Given the description of an element on the screen output the (x, y) to click on. 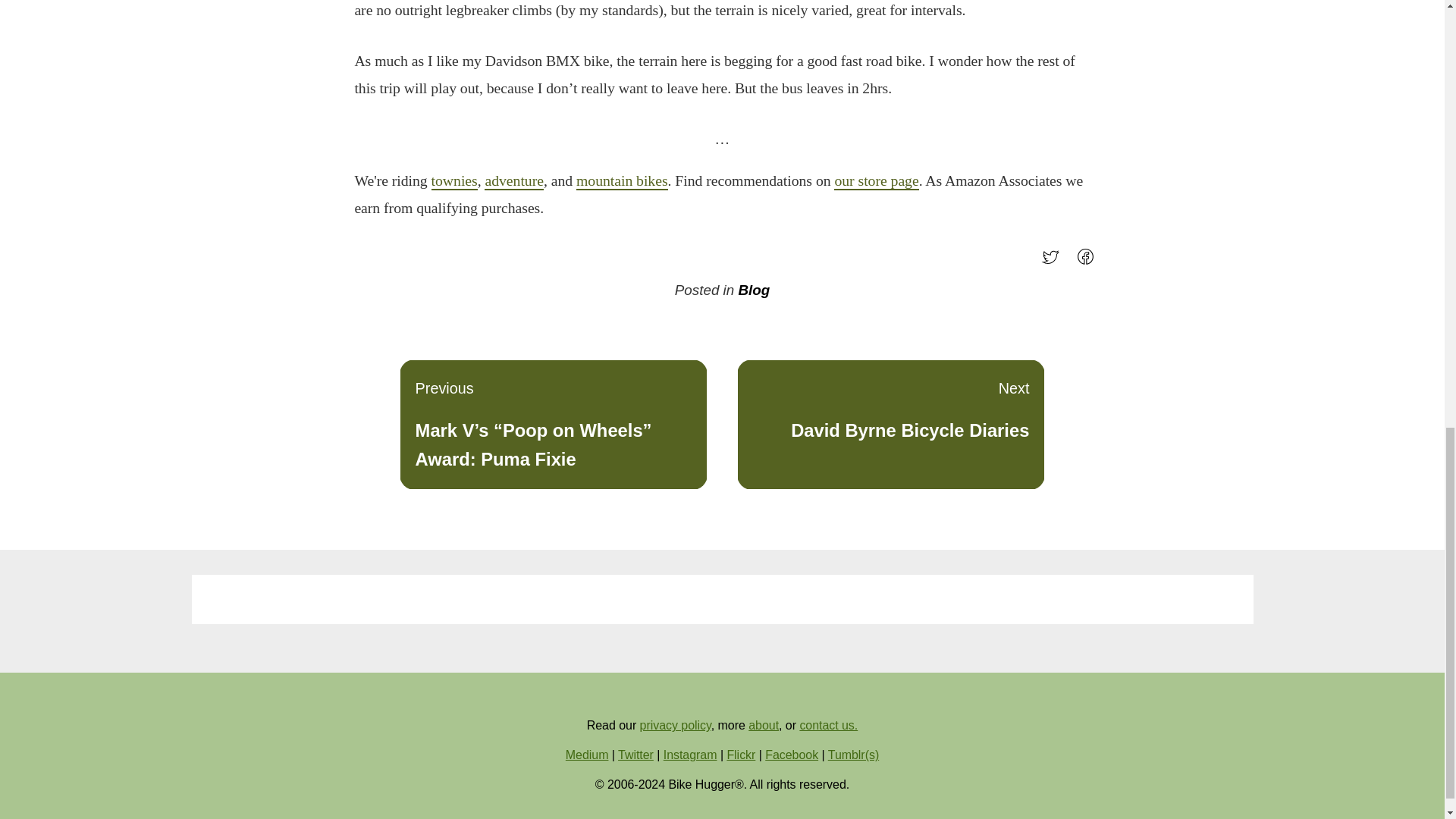
contact us. (828, 725)
townies (453, 180)
our store page (876, 180)
Blog (754, 289)
Facebook (791, 754)
mountain bikes (622, 180)
about (763, 725)
Twitter (890, 424)
privacy policy (635, 754)
Share on Facebook (675, 725)
adventure (1089, 262)
Instagram (513, 180)
Flickr (690, 754)
Tweet (740, 754)
